Given the description of an element on the screen output the (x, y) to click on. 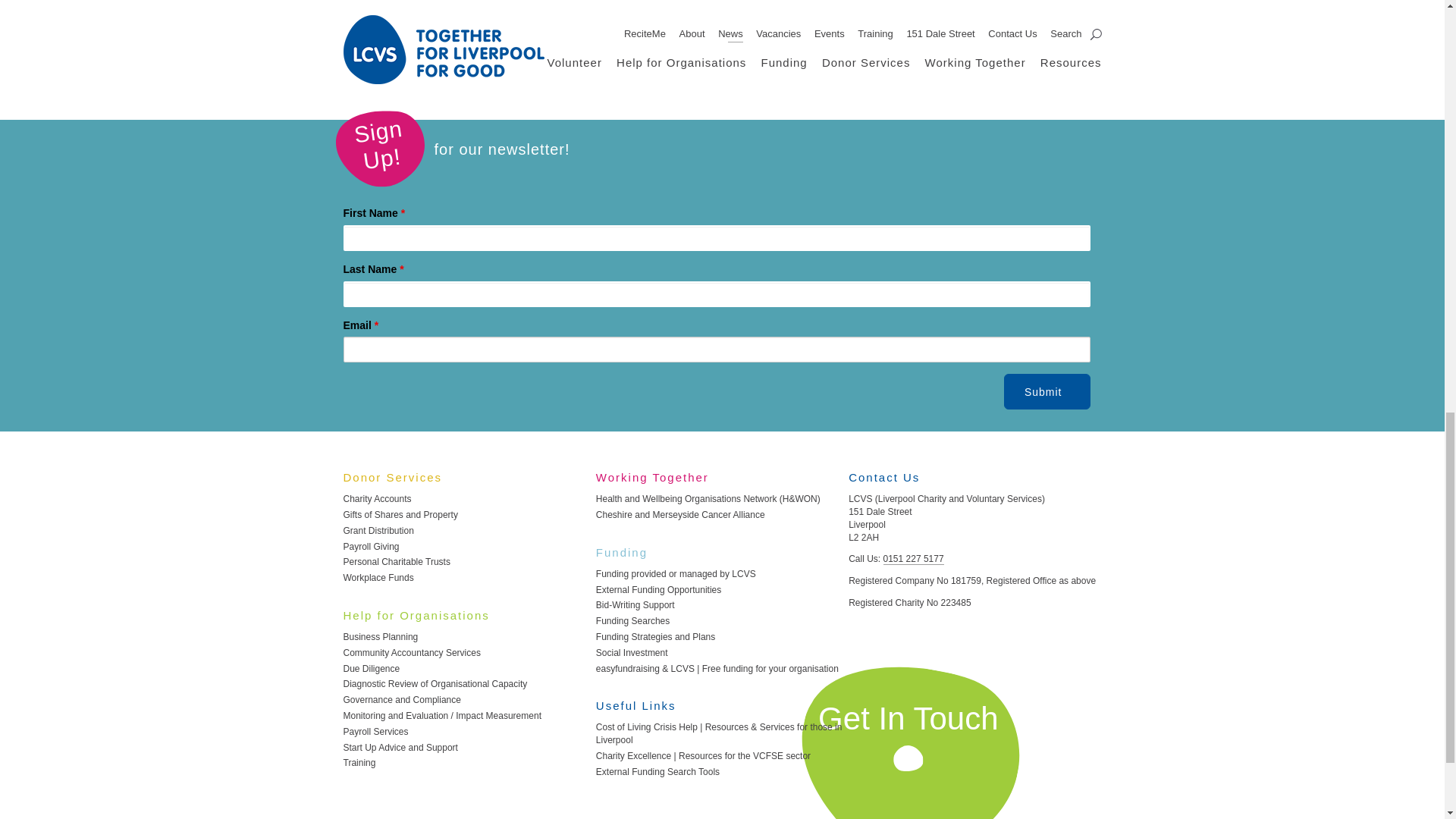
Submit (1047, 391)
